Given the description of an element on the screen output the (x, y) to click on. 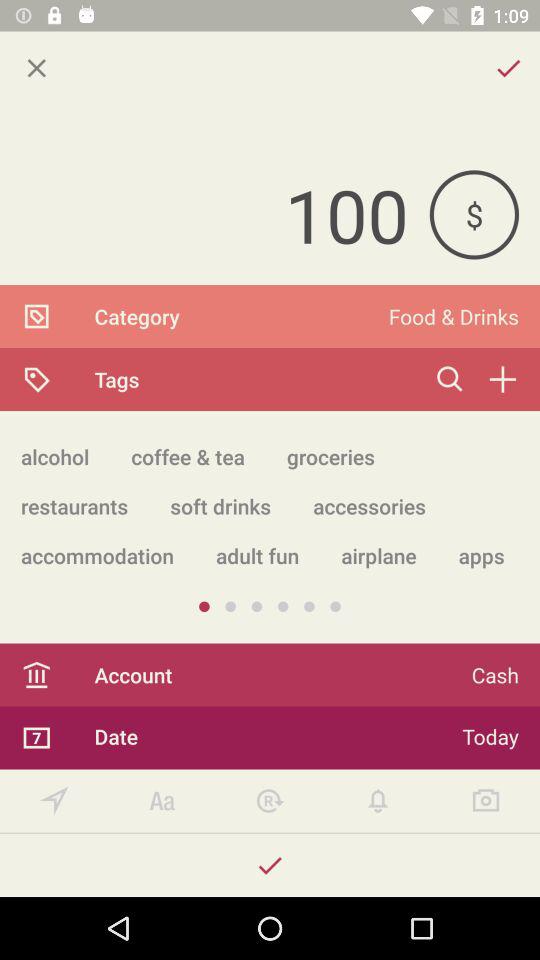
turn off item to the left of the groceries app (187, 456)
